Given the description of an element on the screen output the (x, y) to click on. 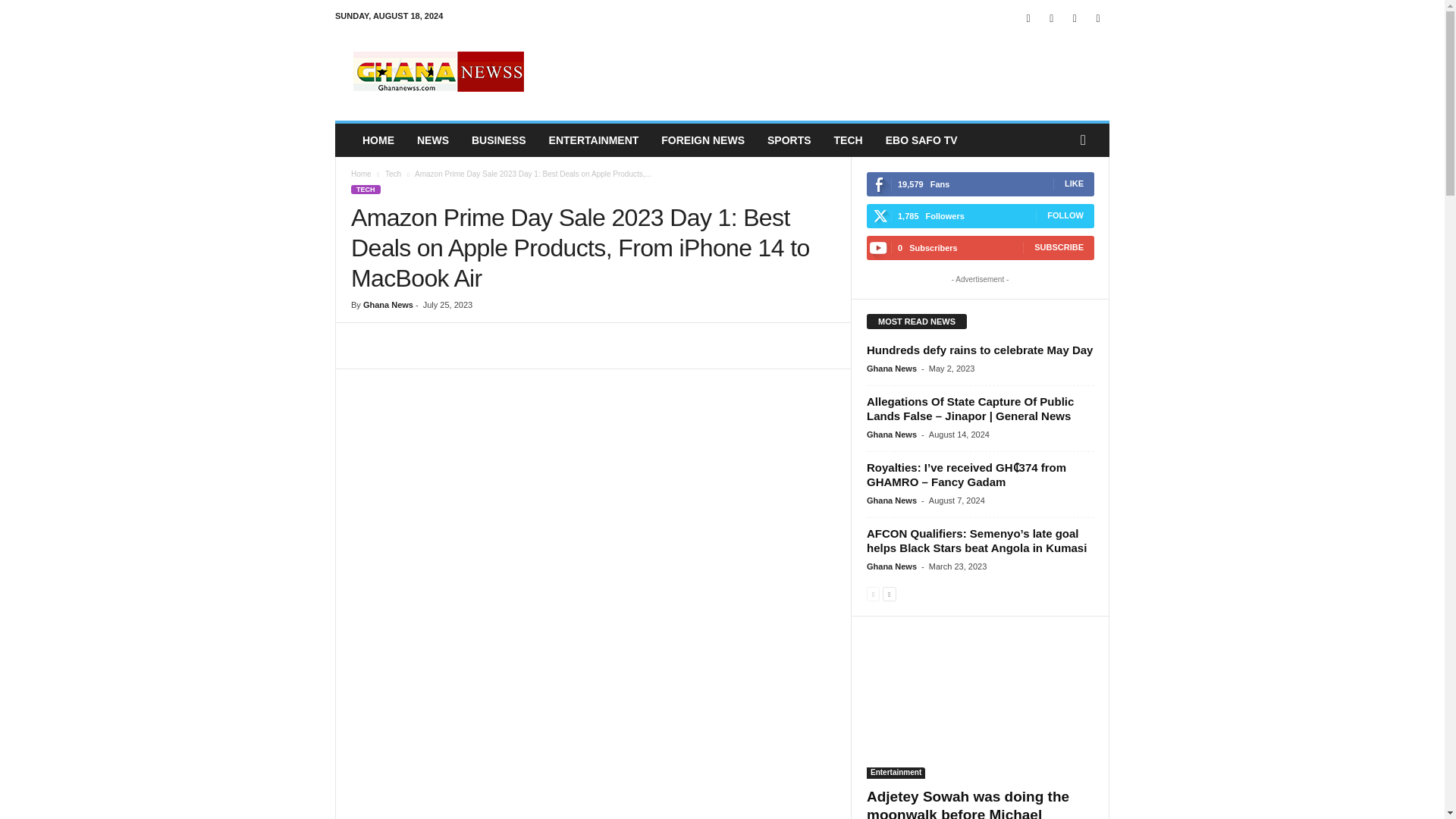
FOREIGN NEWS (702, 140)
SPORTS (788, 140)
Home (360, 173)
HOME (378, 140)
TECH (848, 140)
BUSINESS (498, 140)
Tech (393, 173)
View all posts in Tech (393, 173)
EBO SAFO TV (922, 140)
Ghana Latest News (437, 70)
